Given the description of an element on the screen output the (x, y) to click on. 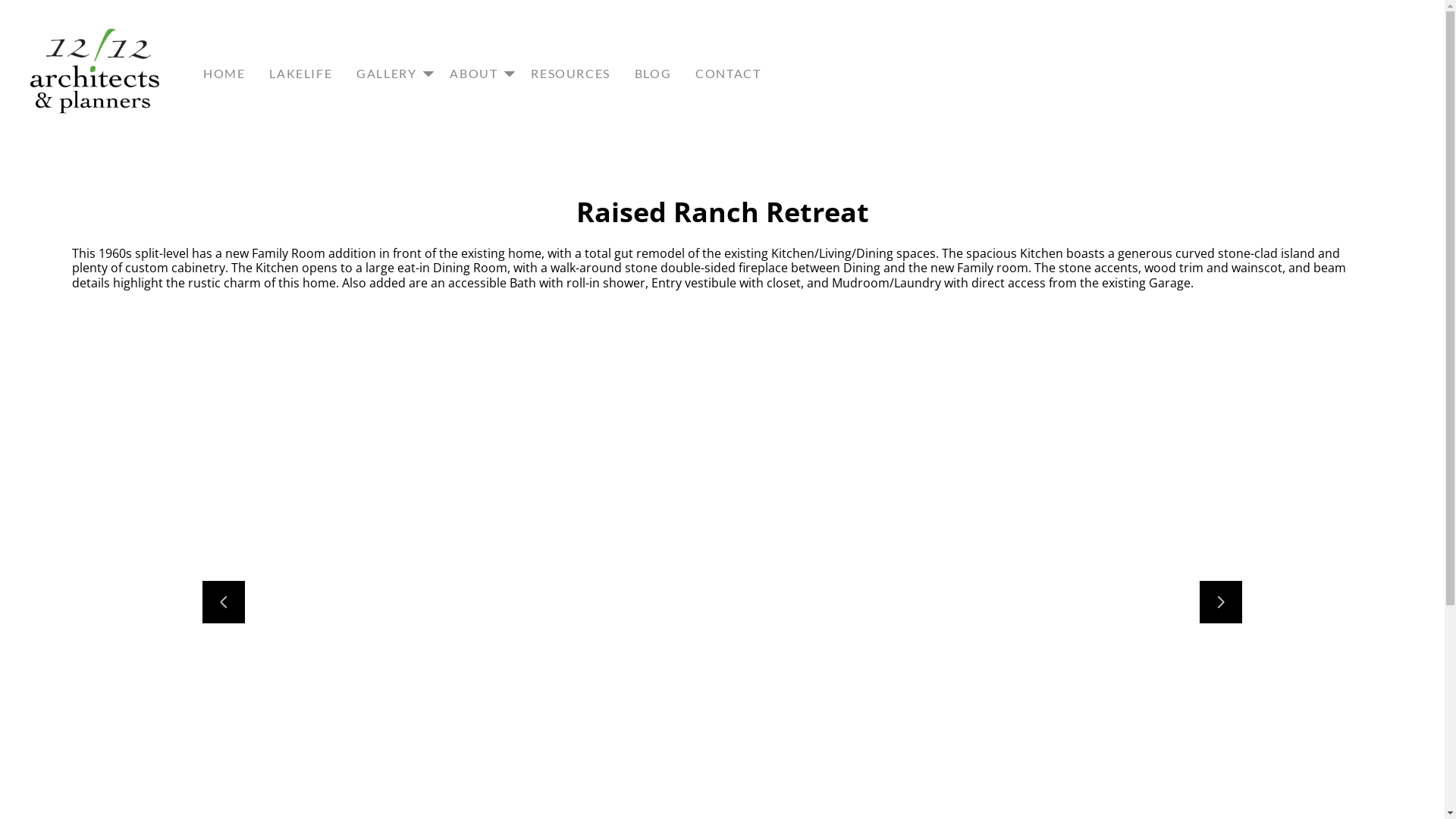
GALLERY Element type: text (390, 73)
BLOG Element type: text (652, 73)
CONTACT Element type: text (727, 73)
HOME Element type: text (224, 73)
Skip to main content Element type: text (12, 12)
ABOUT Element type: text (477, 73)
RESOURCES Element type: text (569, 73)
LAKELIFE Element type: text (300, 73)
